Given the description of an element on the screen output the (x, y) to click on. 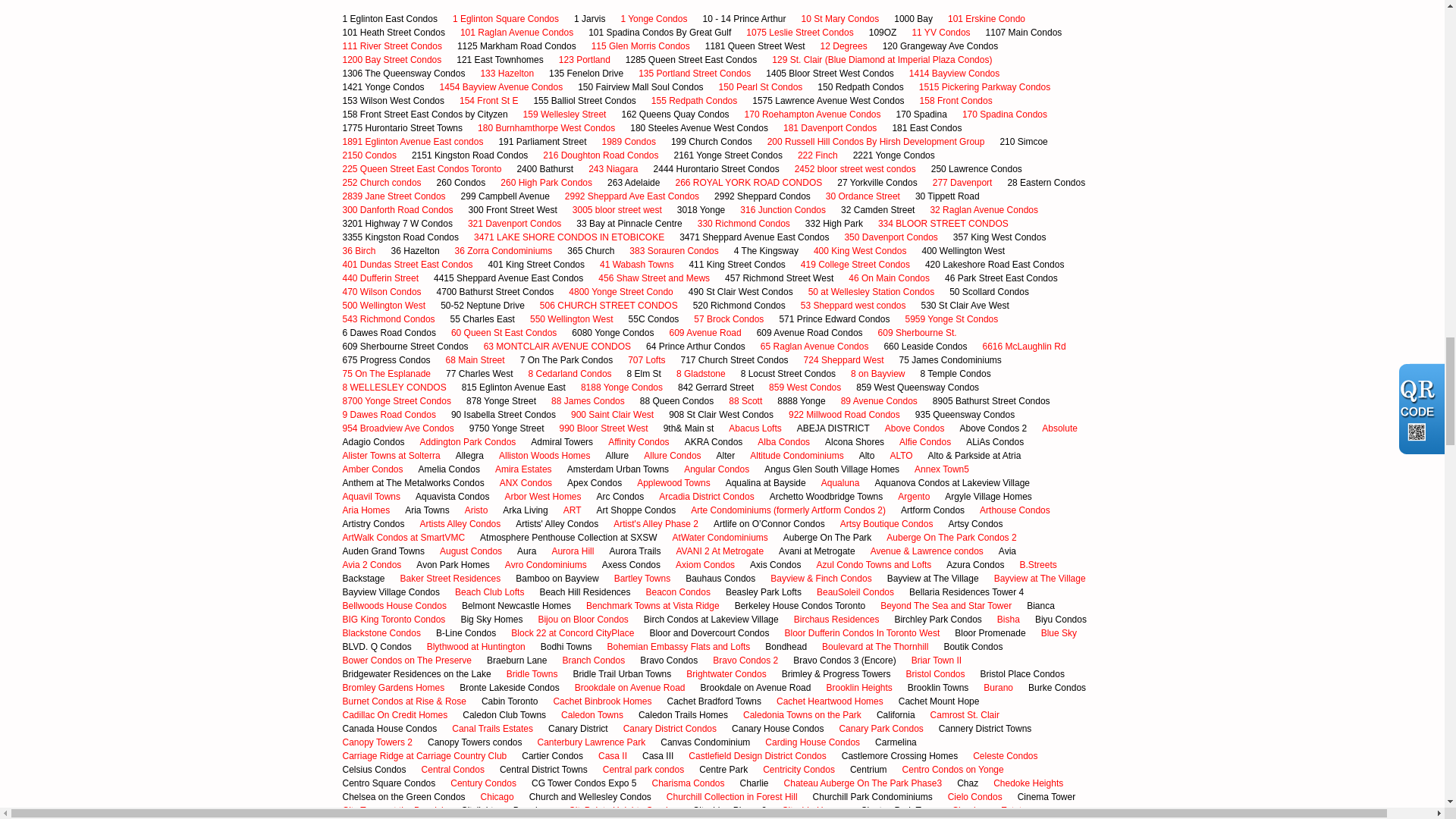
1 Eglinton Square Condos (505, 18)
1 Eglinton East Condos (390, 18)
1 Yonge Condos (653, 18)
1 Jarvis (589, 18)
